Given the description of an element on the screen output the (x, y) to click on. 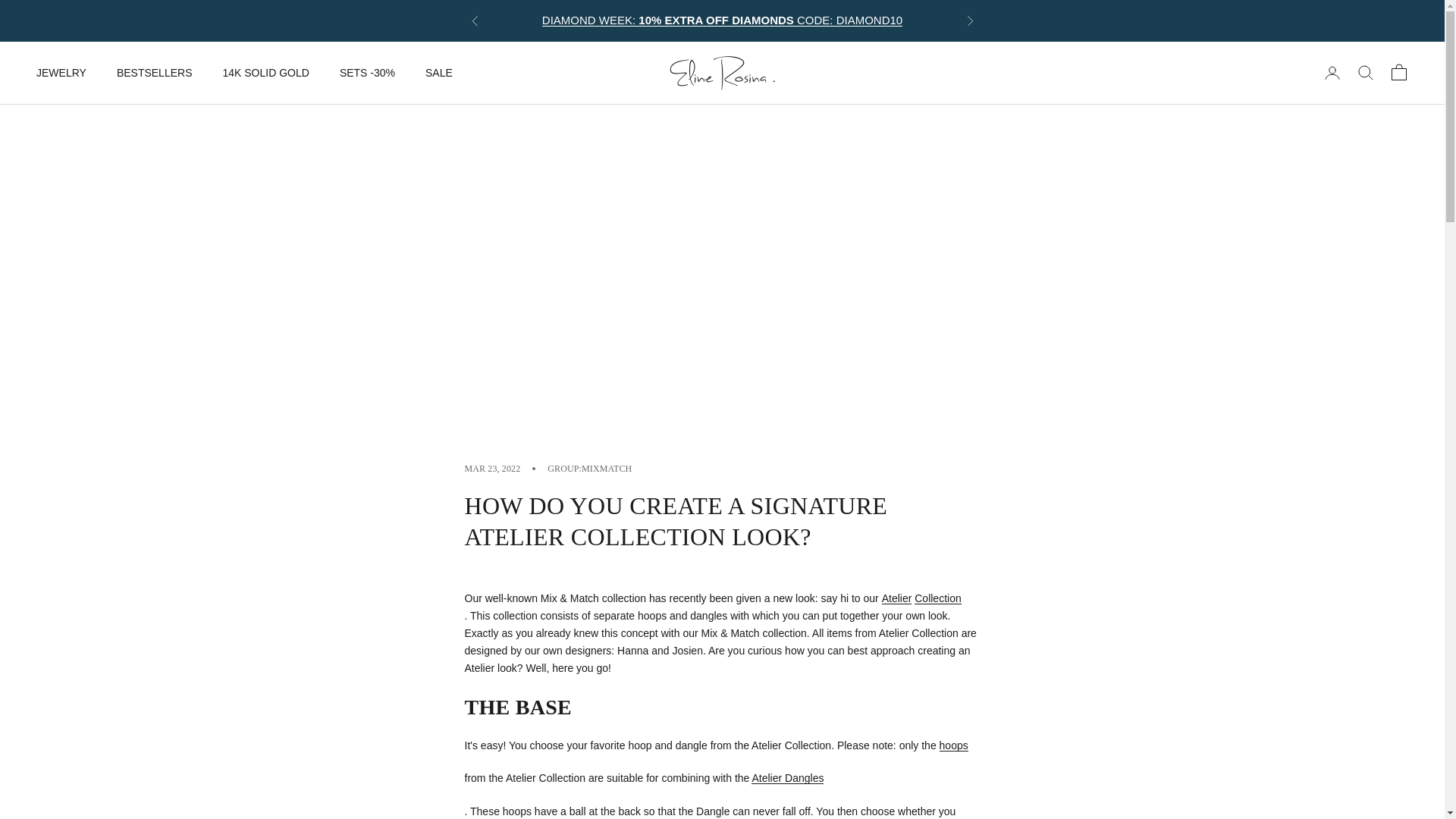
Workshop Collection (937, 598)
BESTSELLERS (154, 72)
Eline Rosina (721, 73)
14K SOLID GOLD (265, 72)
Diamonds (721, 19)
Workshop Collection (953, 745)
Open account page (1331, 72)
Workshop Collection (787, 777)
SALE (438, 72)
